Given the description of an element on the screen output the (x, y) to click on. 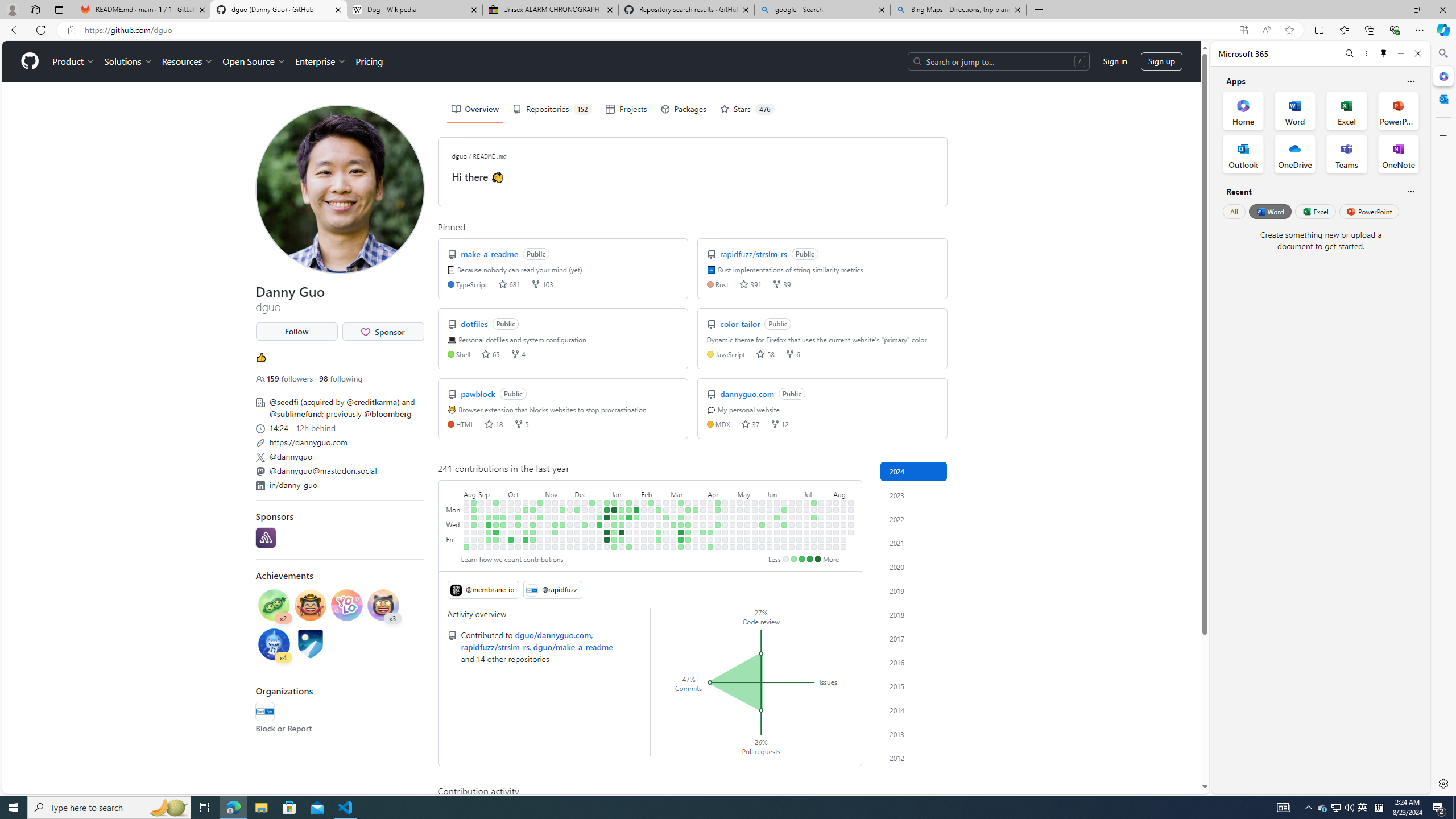
No contributions on February 18th. (658, 502)
No contributions on March 2nd. (665, 546)
No contributions on August 24th. (466, 531)
2 contributions on October 31st. (540, 517)
No contributions on July 12th. (806, 539)
No contributions on June 30th. (799, 502)
No contributions on September 6th. (481, 524)
No contributions on August 20th. (850, 517)
No contributions on December 6th. (577, 524)
No contributions on May 8th. (740, 524)
No contributions on June 18th. (784, 517)
No contributions on January 25th. (628, 531)
dguo (459, 156)
No contributions on March 31st. (703, 502)
